Given the description of an element on the screen output the (x, y) to click on. 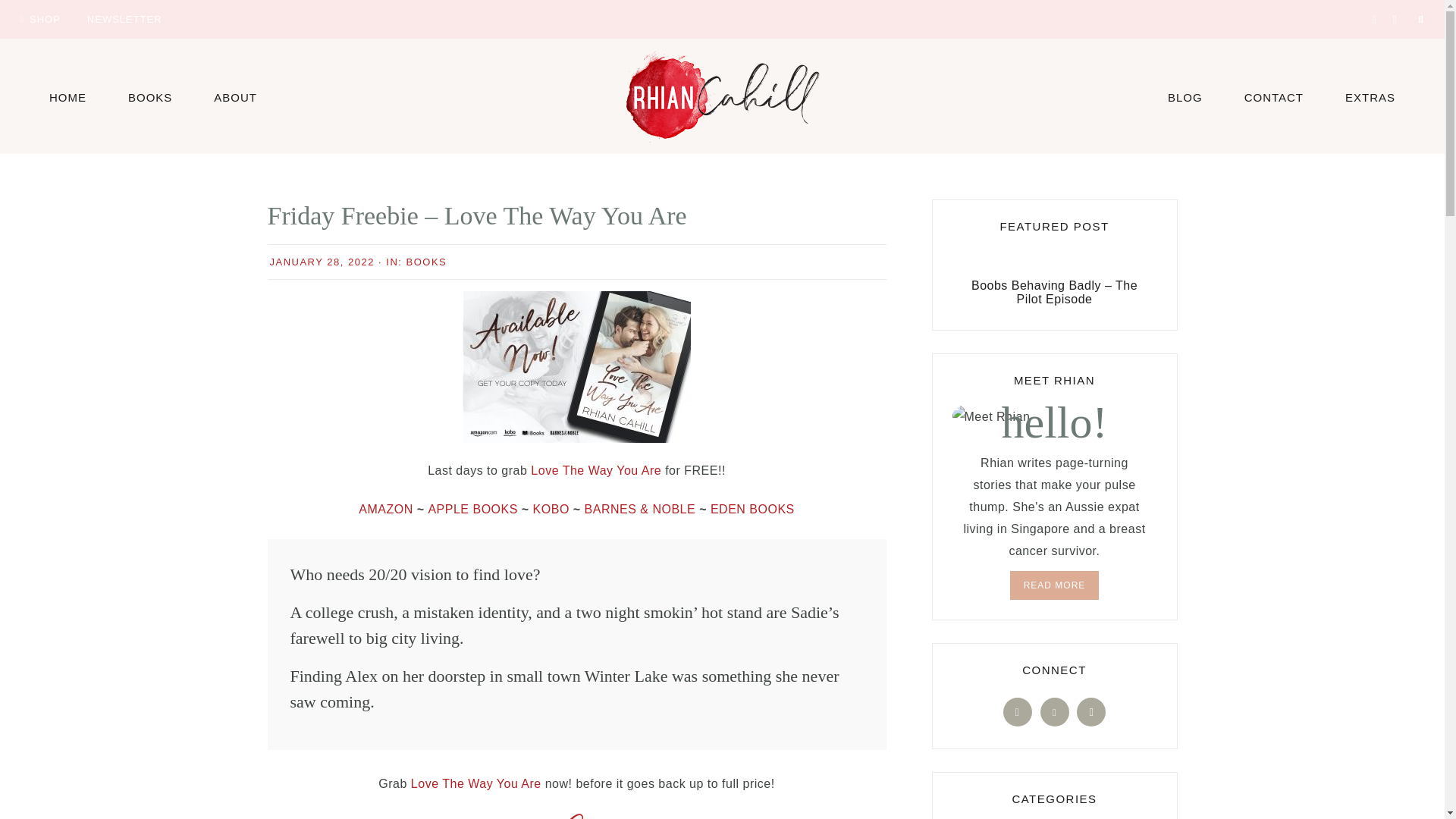
SHOP (39, 18)
NEWSLETTER (124, 18)
